Given the description of an element on the screen output the (x, y) to click on. 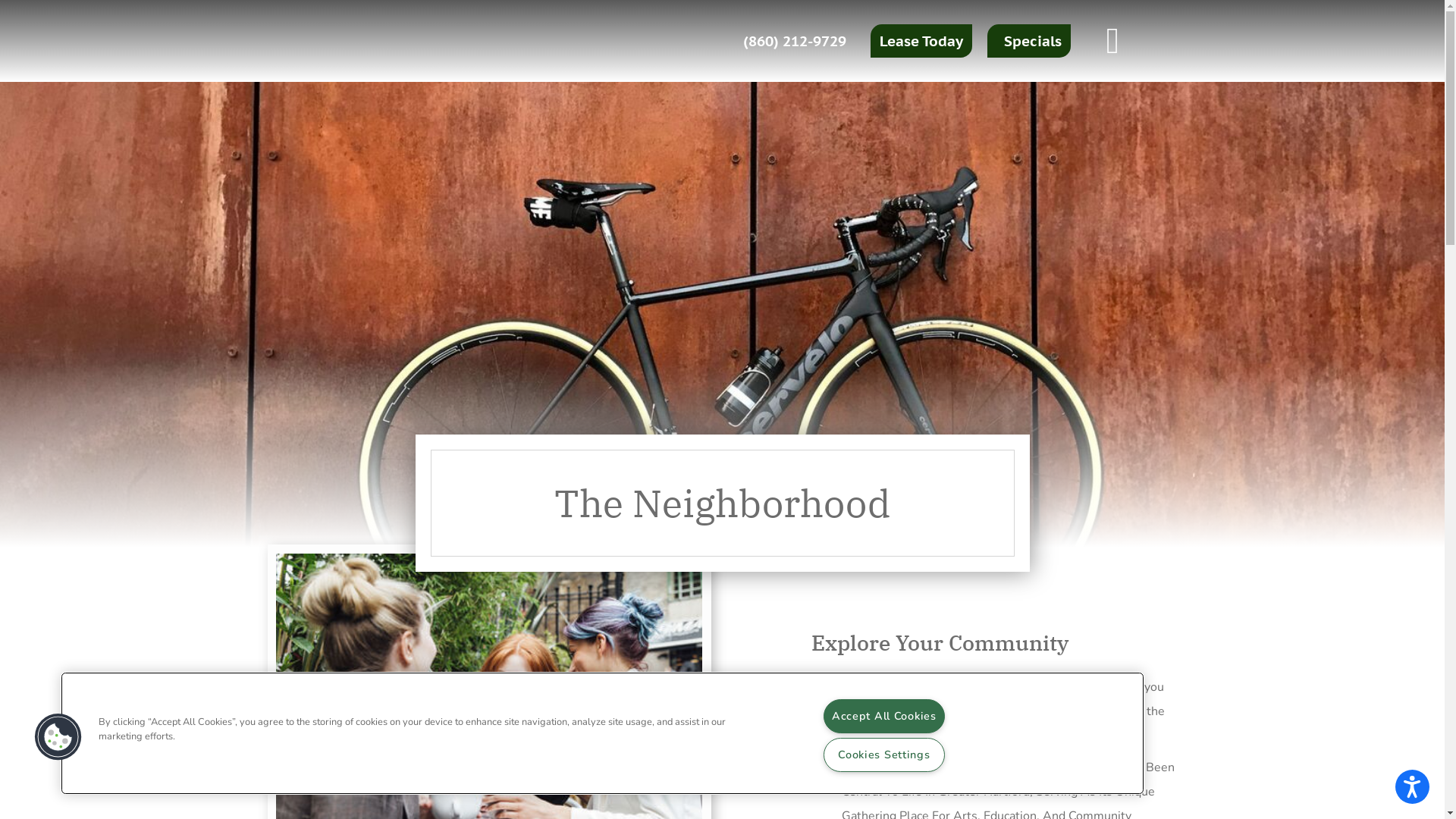
Cookies Button Element type: text (58, 736)
Accept All Cookies Element type: text (883, 716)
Lease Today Element type: text (921, 40)
(860) 212-9729 Element type: text (794, 40)
Cookies Settings Element type: text (883, 754)
Specials Element type: text (1028, 40)
